Given the description of an element on the screen output the (x, y) to click on. 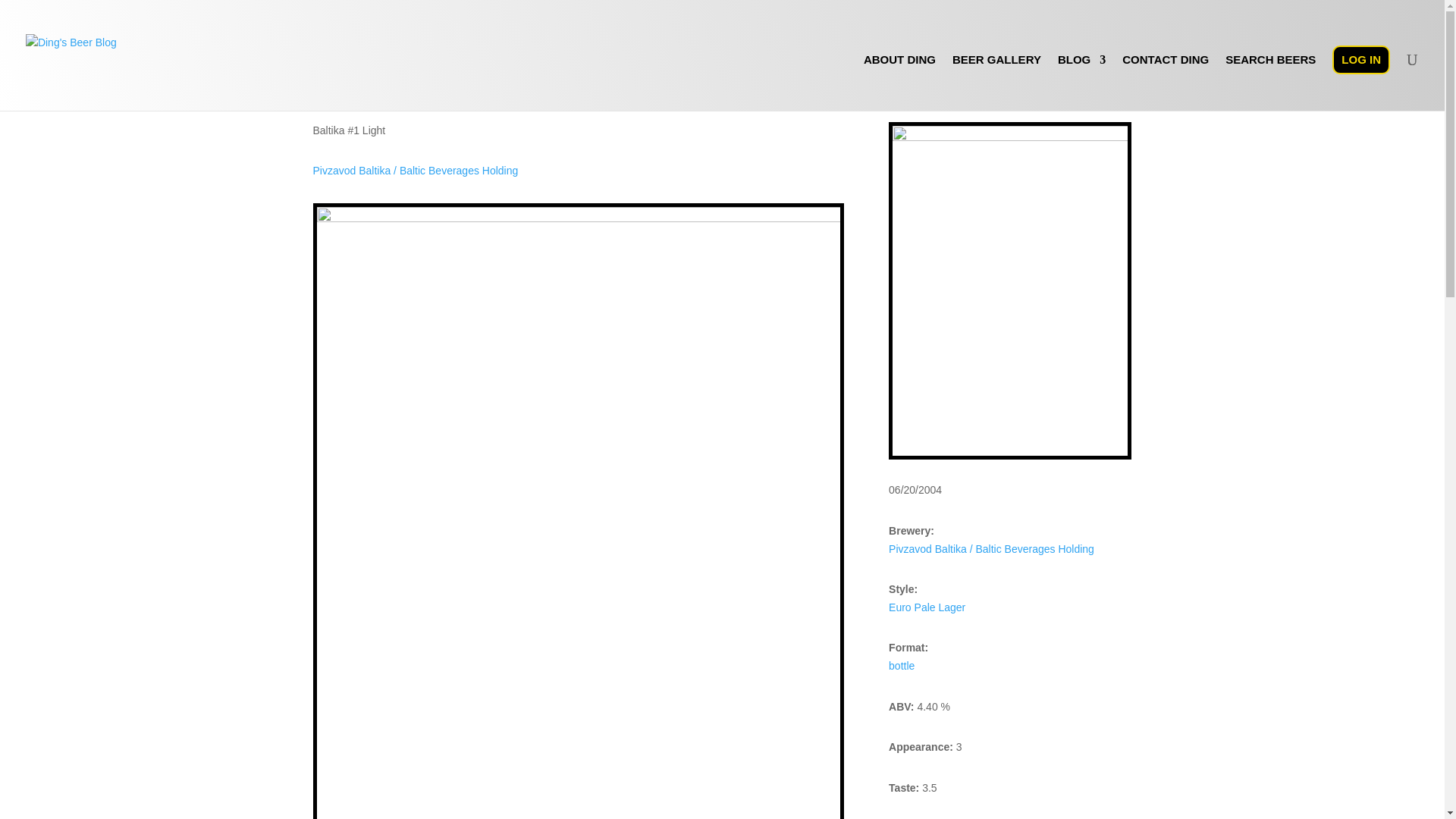
BEER GALLERY (996, 82)
Euro Pale Lager (926, 607)
ABOUT DING (899, 82)
bottle (901, 665)
CONTACT DING (1165, 82)
LOG IN (1361, 59)
SEARCH BEERS (1270, 82)
